Given the description of an element on the screen output the (x, y) to click on. 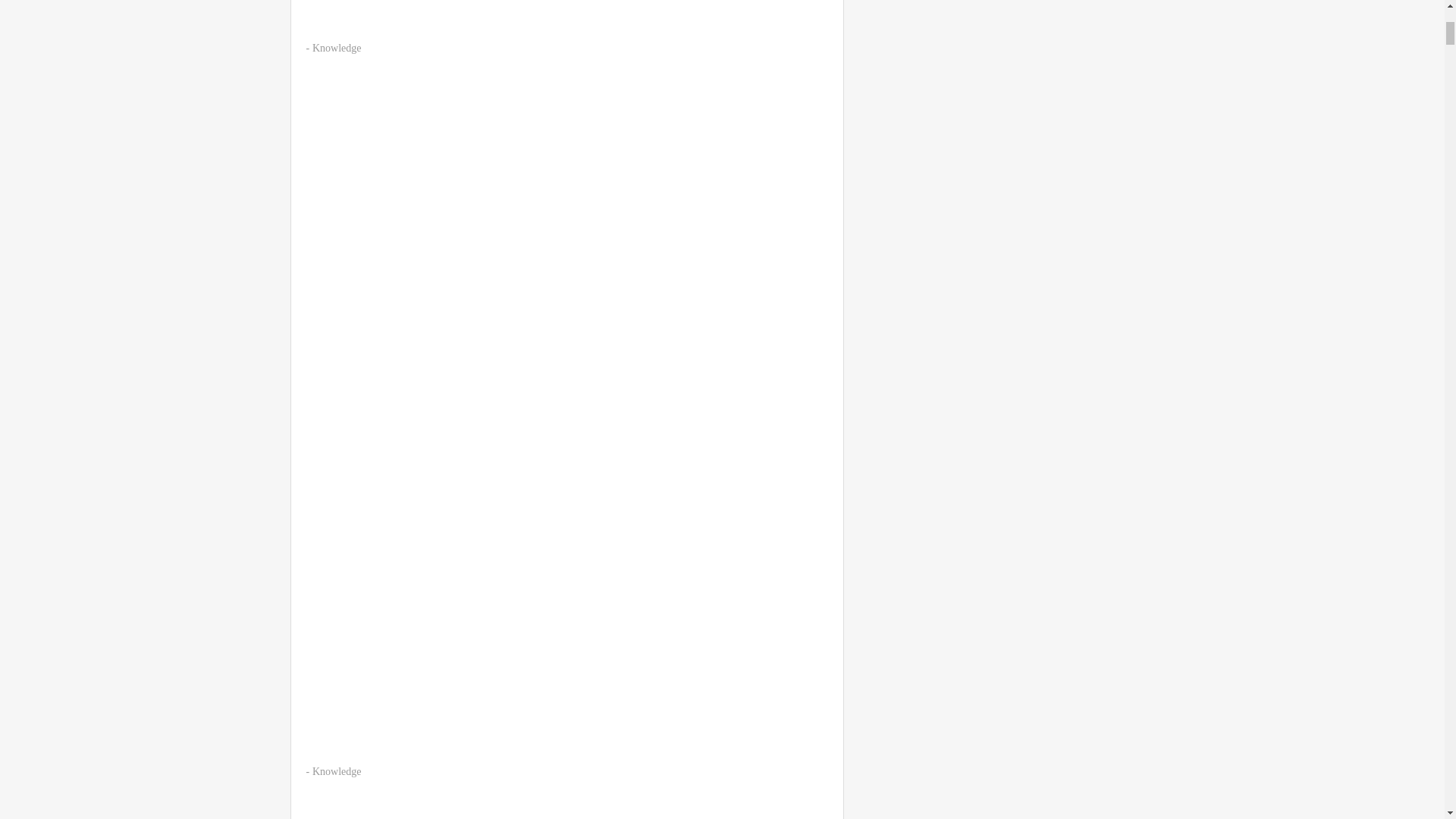
Knowledge (337, 48)
Knowledge (337, 771)
